Given the description of an element on the screen output the (x, y) to click on. 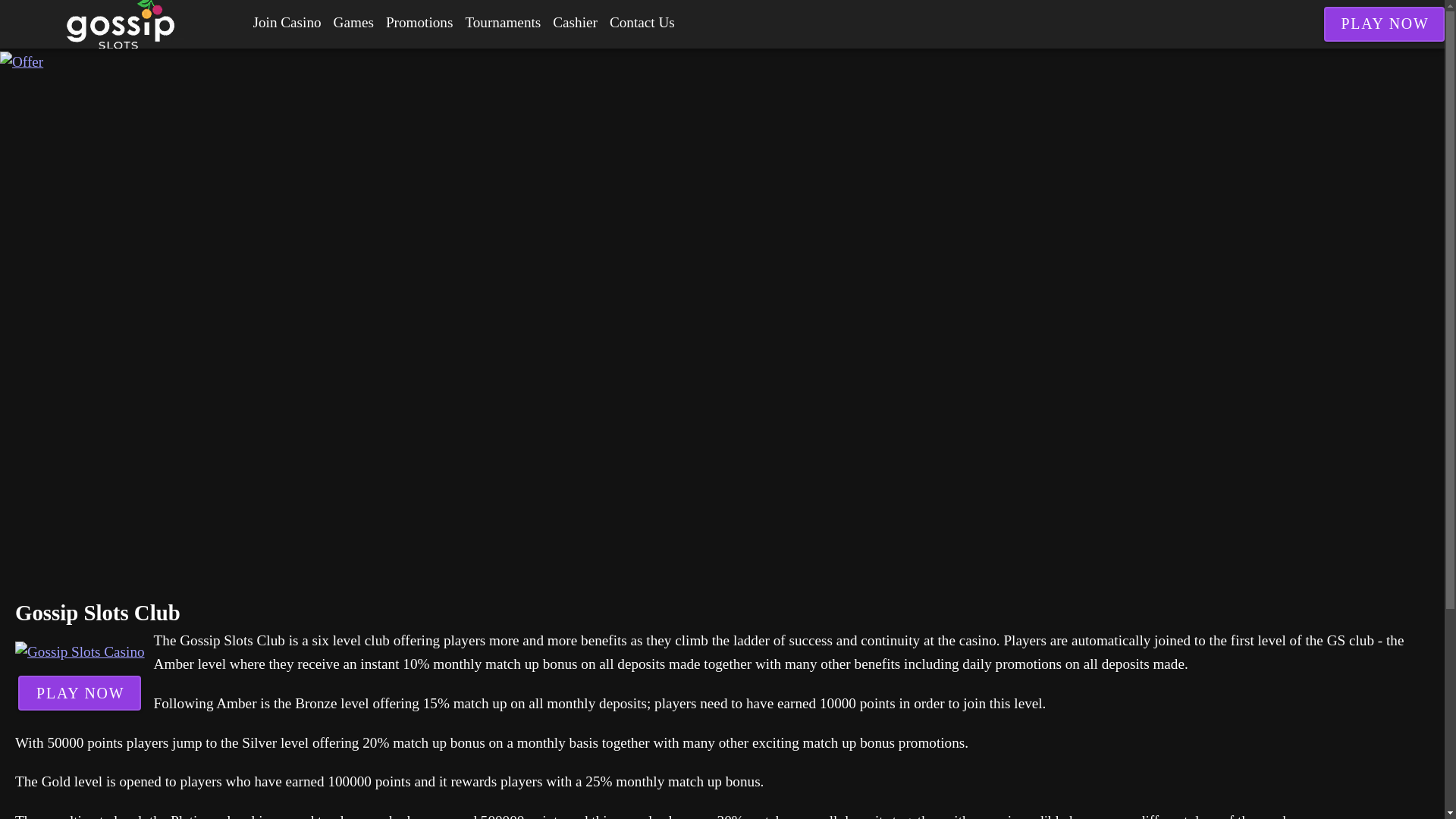
Tournaments (502, 22)
Contact Us (642, 22)
Games (353, 22)
Cashier (575, 22)
Promotions (420, 22)
PLAY NOW (79, 692)
Join Casino (287, 22)
